Given the description of an element on the screen output the (x, y) to click on. 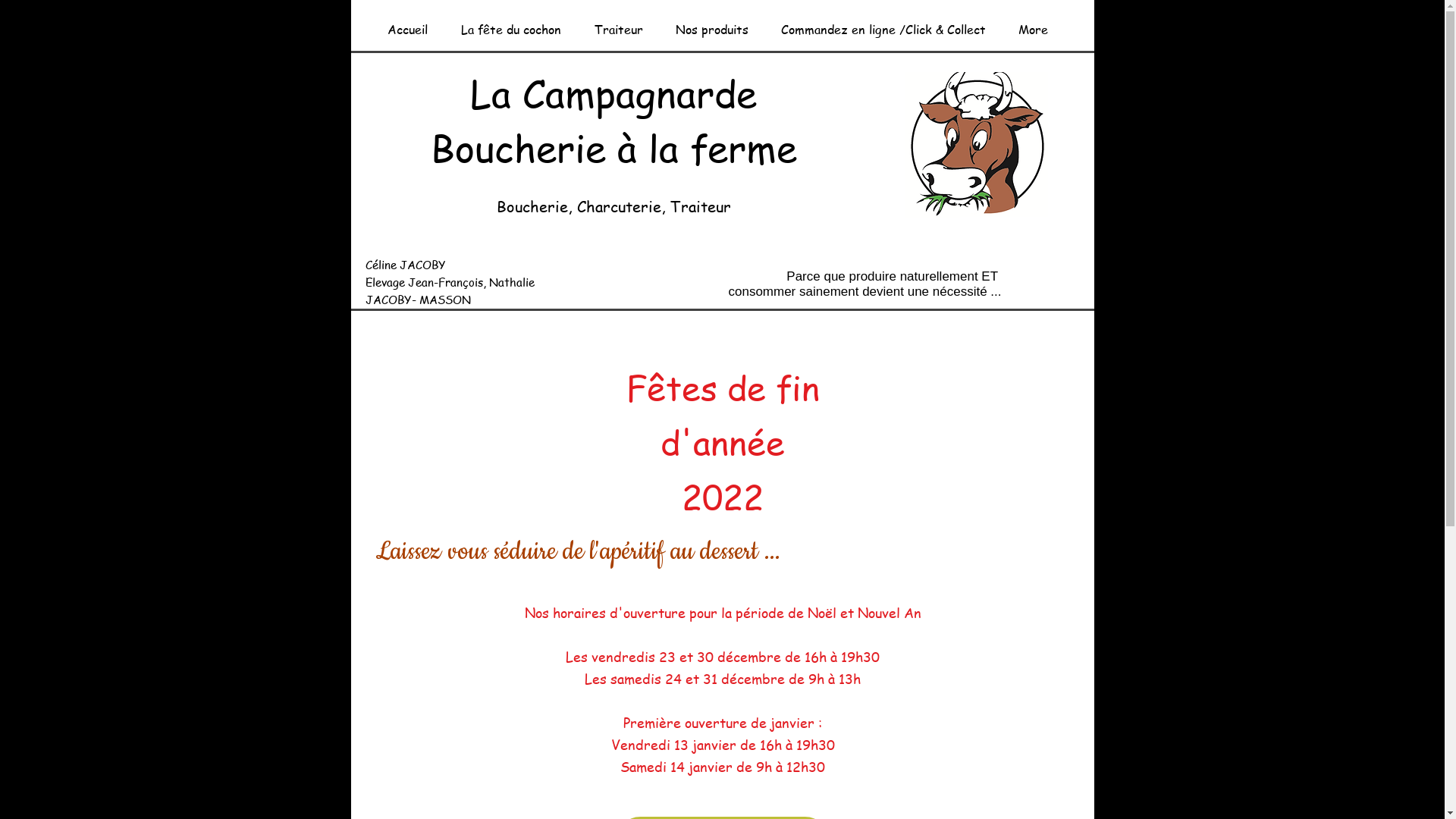
Sans titre6 - Copie (2).png Element type: hover (978, 145)
Nos produits Element type: text (712, 22)
Commandez en ligne /Click & Collect Element type: text (882, 22)
Accueil Element type: text (406, 22)
Traiteur Element type: text (618, 22)
